Given the description of an element on the screen output the (x, y) to click on. 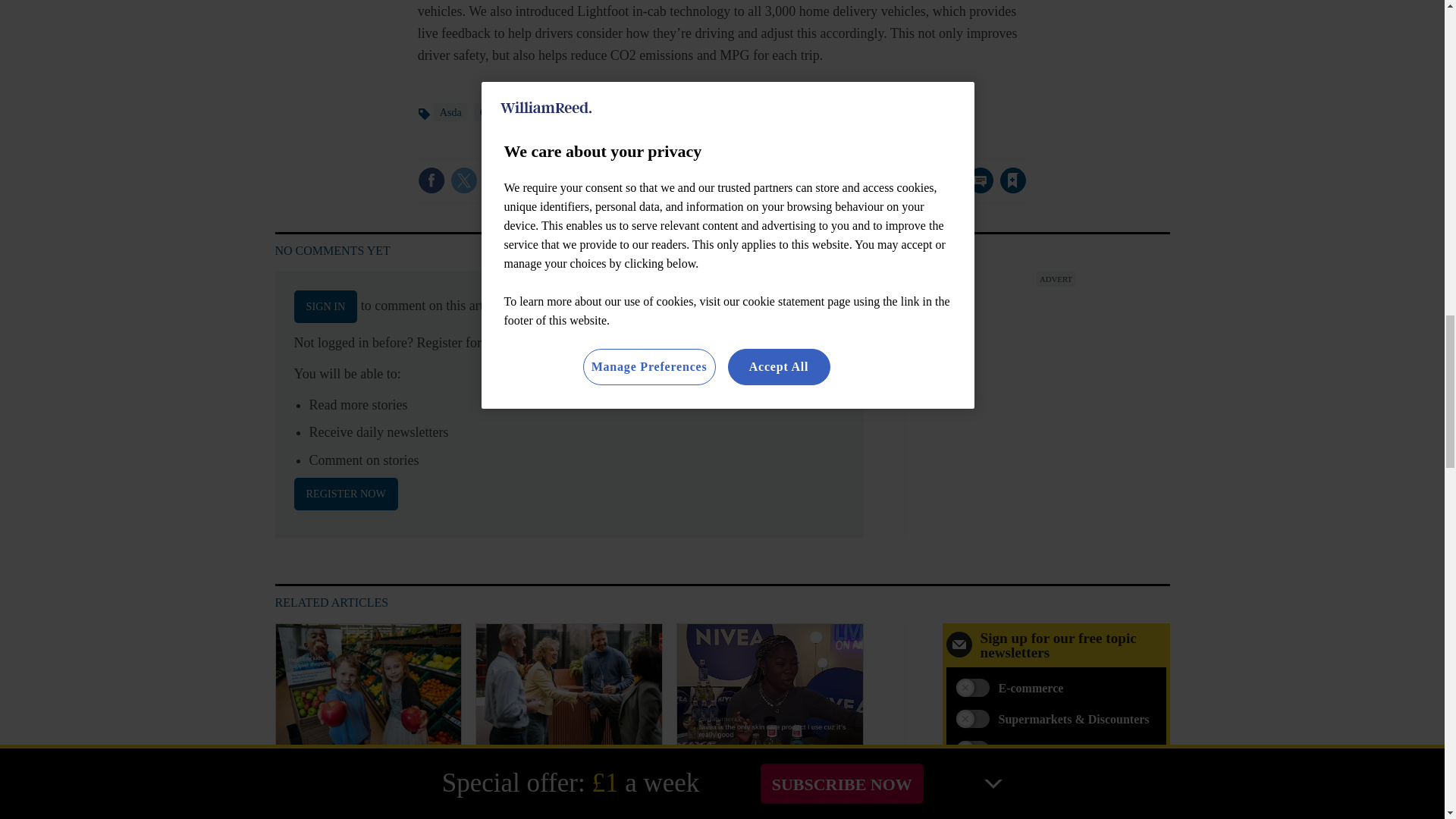
Email this article (529, 180)
No comments (976, 189)
Share this on Linked in (497, 180)
Share this on Twitter (463, 180)
Share this on Facebook (431, 180)
